Given the description of an element on the screen output the (x, y) to click on. 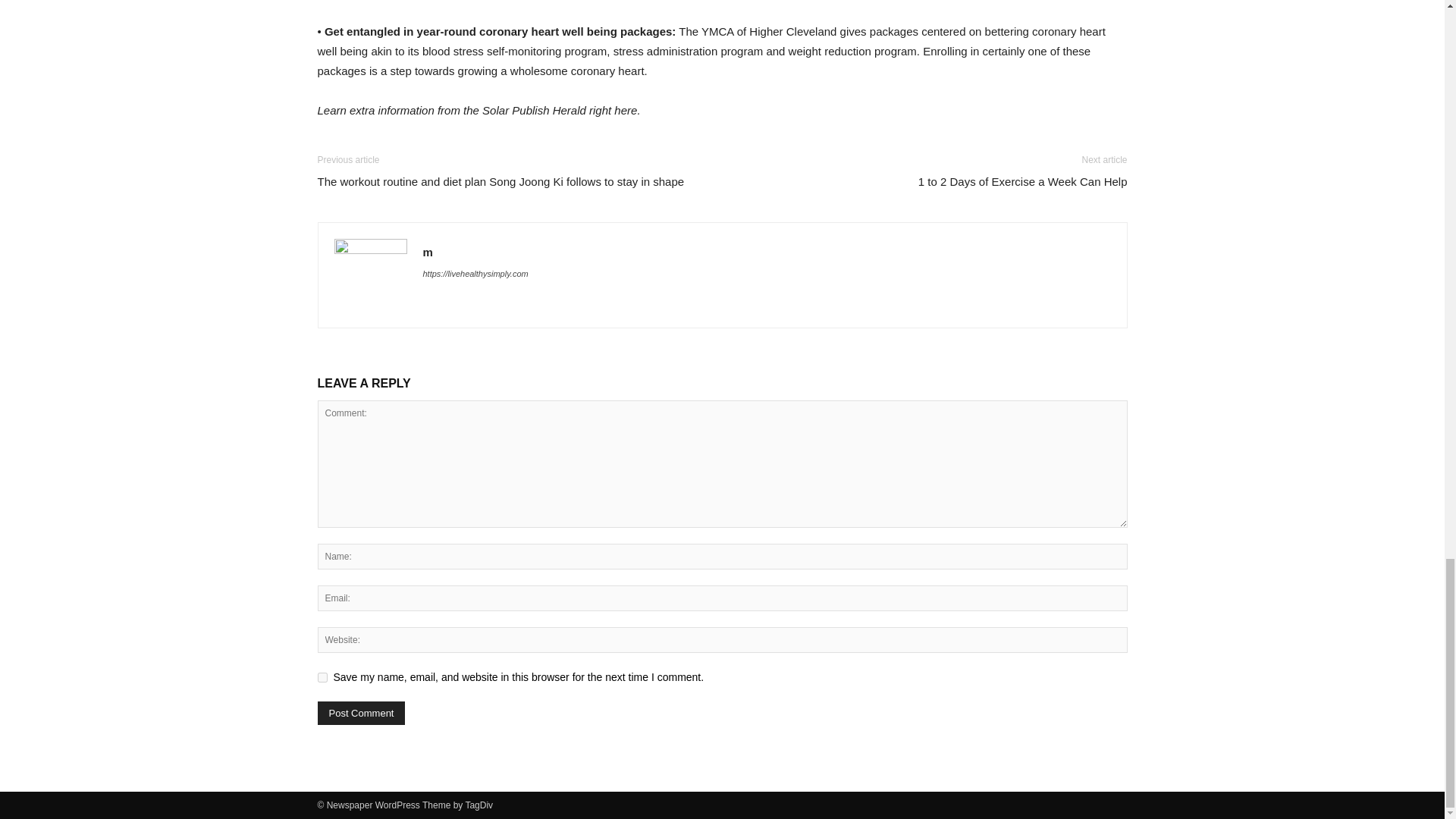
Post Comment (360, 712)
Post Comment (360, 712)
1 to 2 Days of Exercise a Week Can Help (1022, 181)
yes (321, 677)
